Given the description of an element on the screen output the (x, y) to click on. 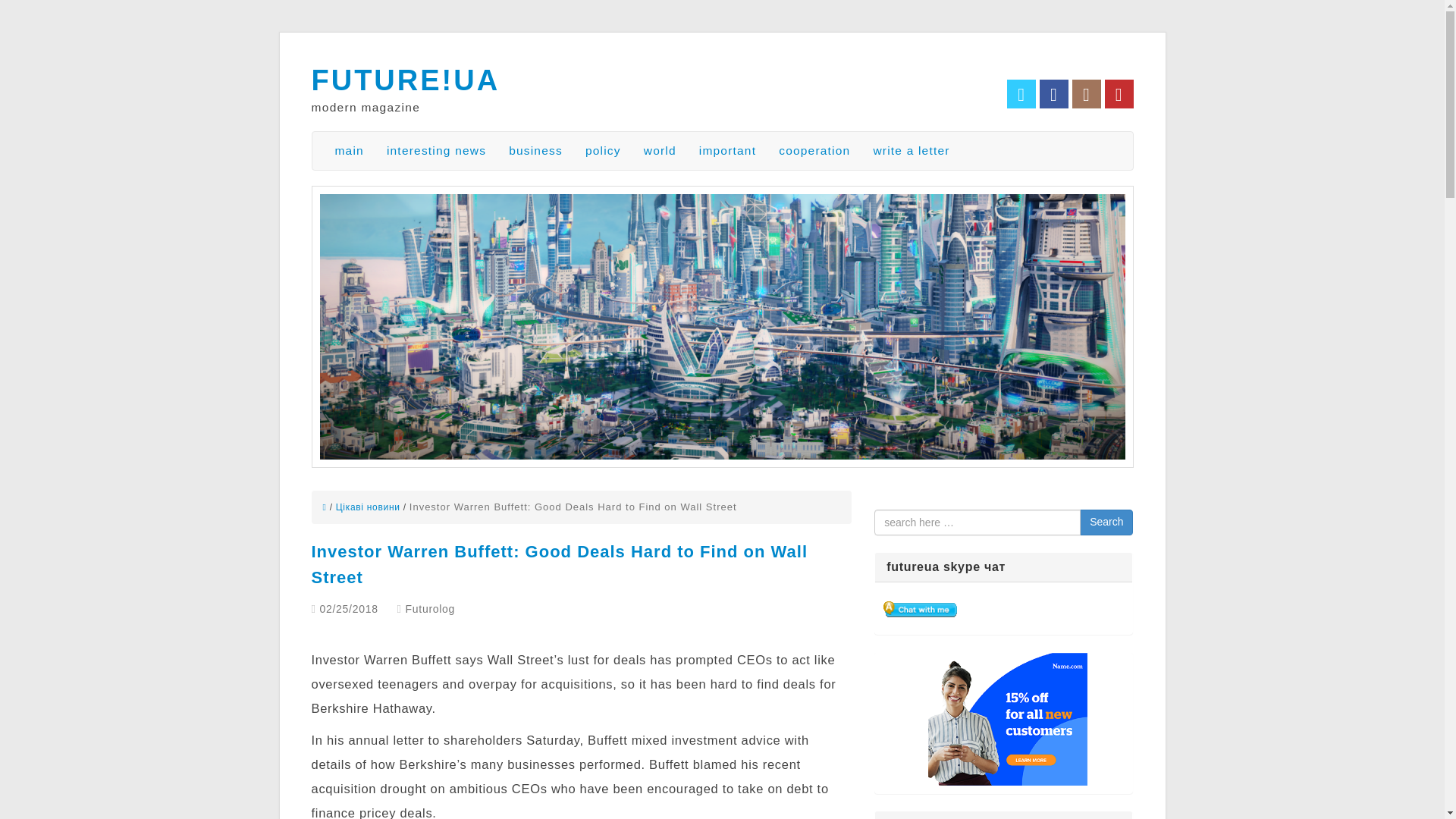
important (727, 150)
business (535, 150)
interesting news (436, 150)
cooperation (814, 150)
main (348, 150)
Futurolog (430, 608)
important (727, 150)
write a letter (910, 150)
policy (602, 150)
world (659, 150)
world (659, 150)
FUTURE!UA (405, 80)
business (535, 150)
FUTURE!UA (405, 80)
main (348, 150)
